Given the description of an element on the screen output the (x, y) to click on. 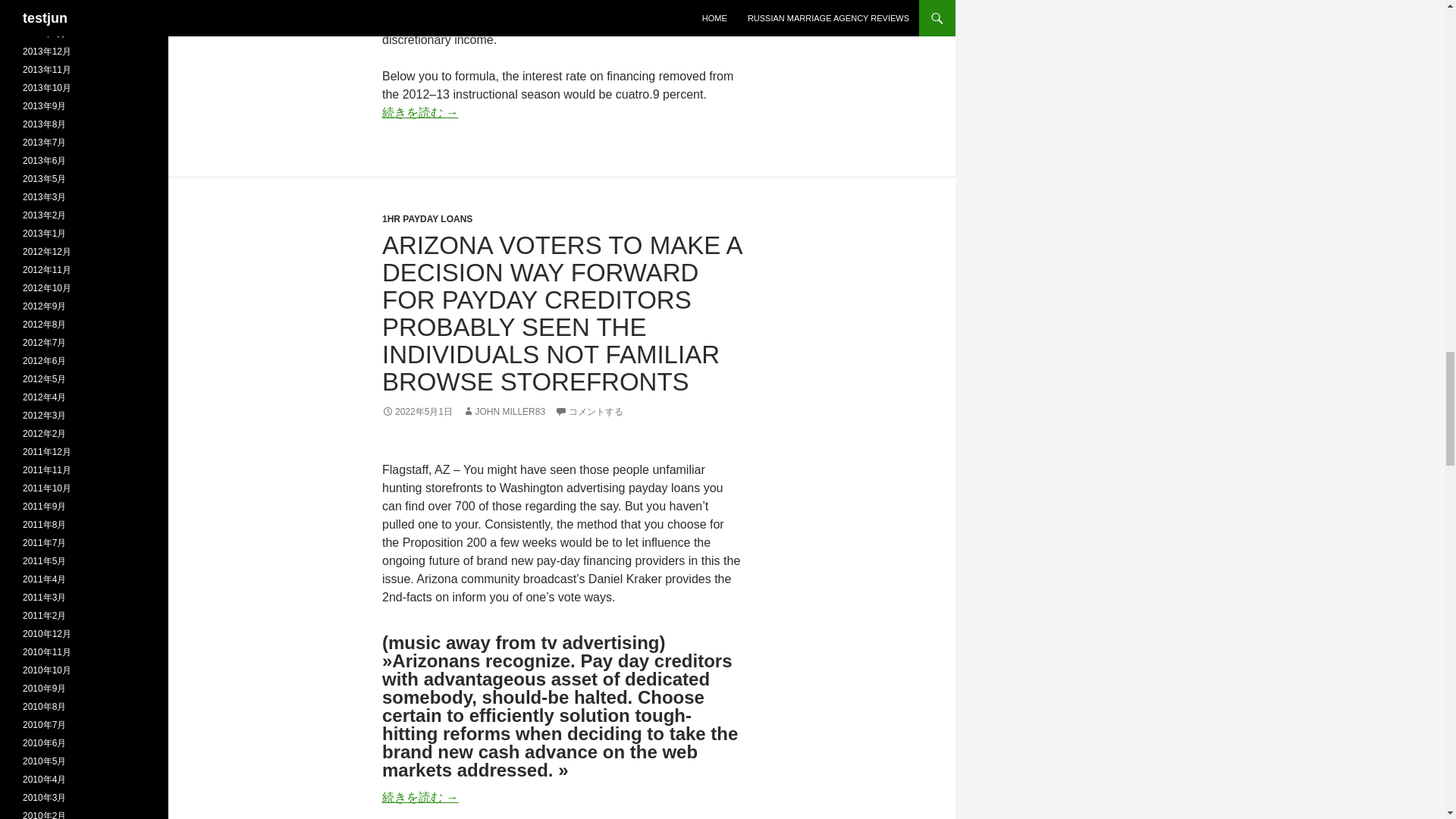
JOHN MILLER83 (503, 411)
1HR PAYDAY LOANS (426, 218)
